Given the description of an element on the screen output the (x, y) to click on. 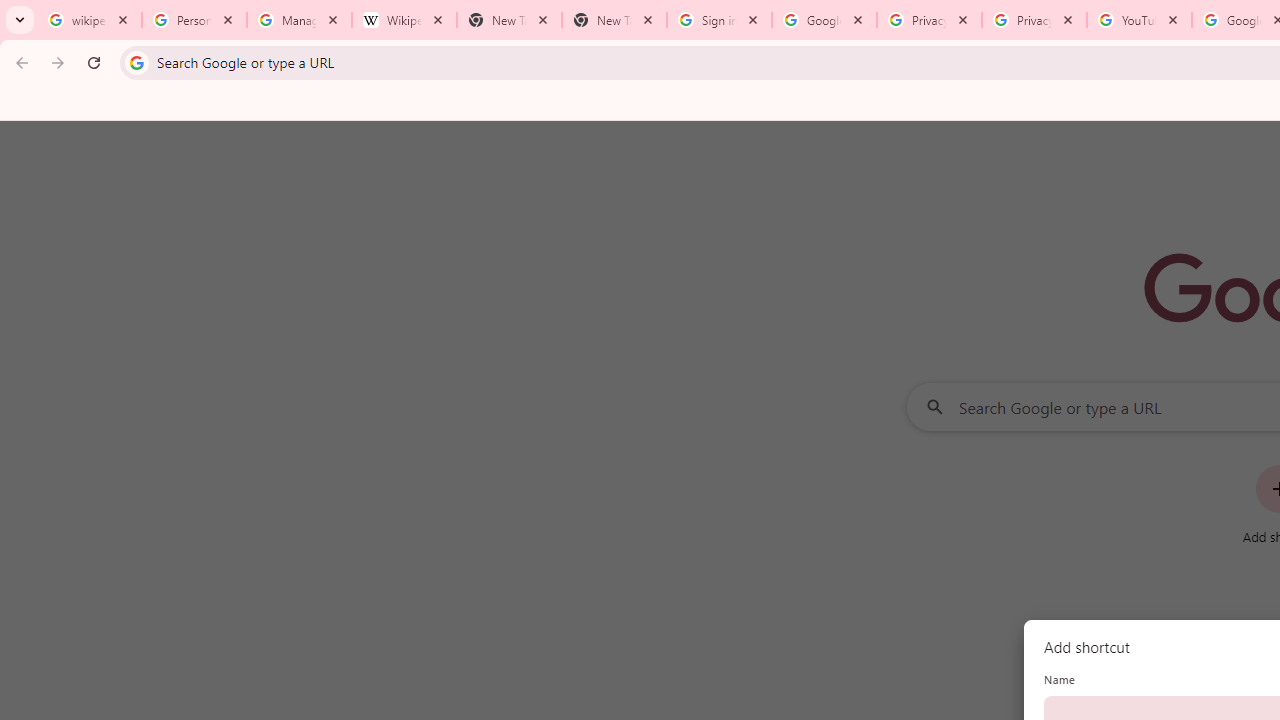
Manage your Location History - Google Search Help (299, 20)
